Given the description of an element on the screen output the (x, y) to click on. 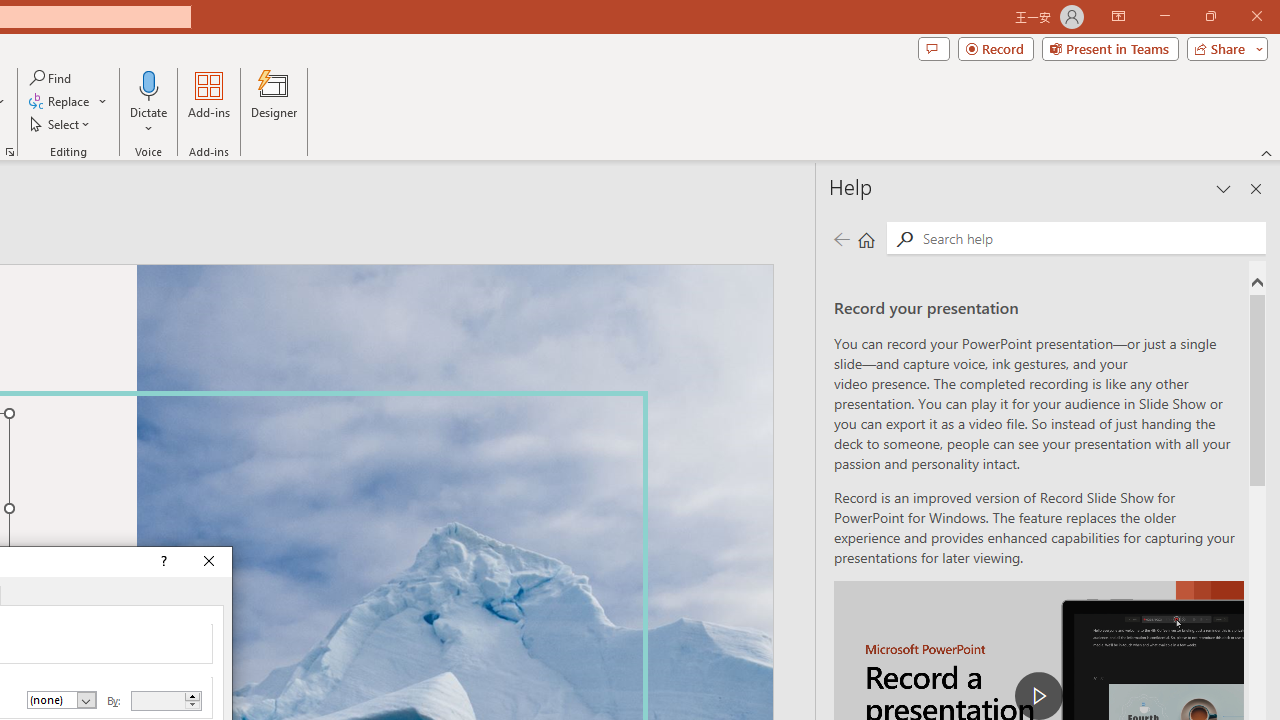
By (166, 701)
By (157, 700)
Previous page (841, 238)
